Given the description of an element on the screen output the (x, y) to click on. 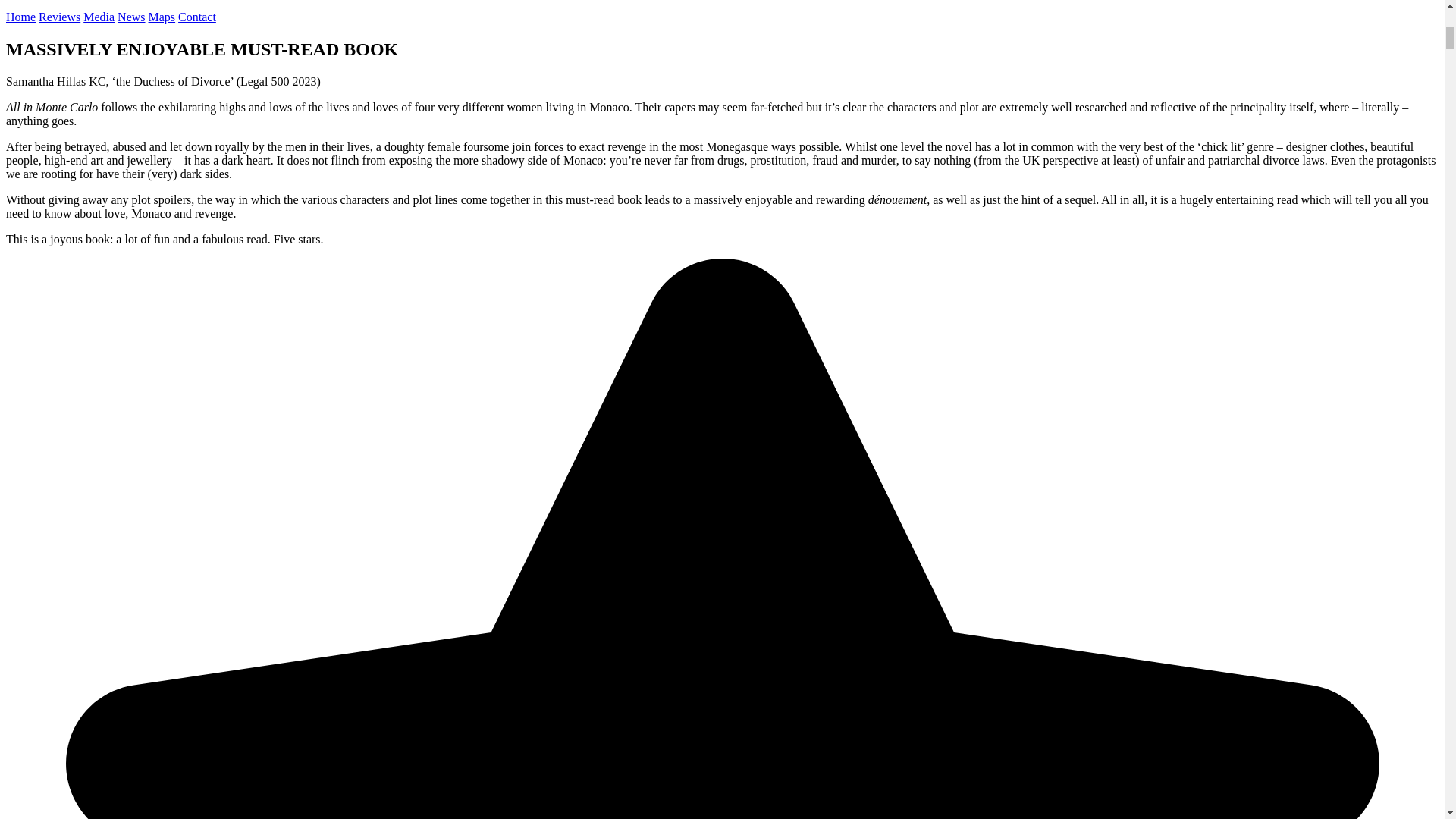
News (130, 16)
Media (98, 16)
Contact (196, 16)
Maps (162, 16)
Home (19, 16)
Reviews (59, 16)
